Given the description of an element on the screen output the (x, y) to click on. 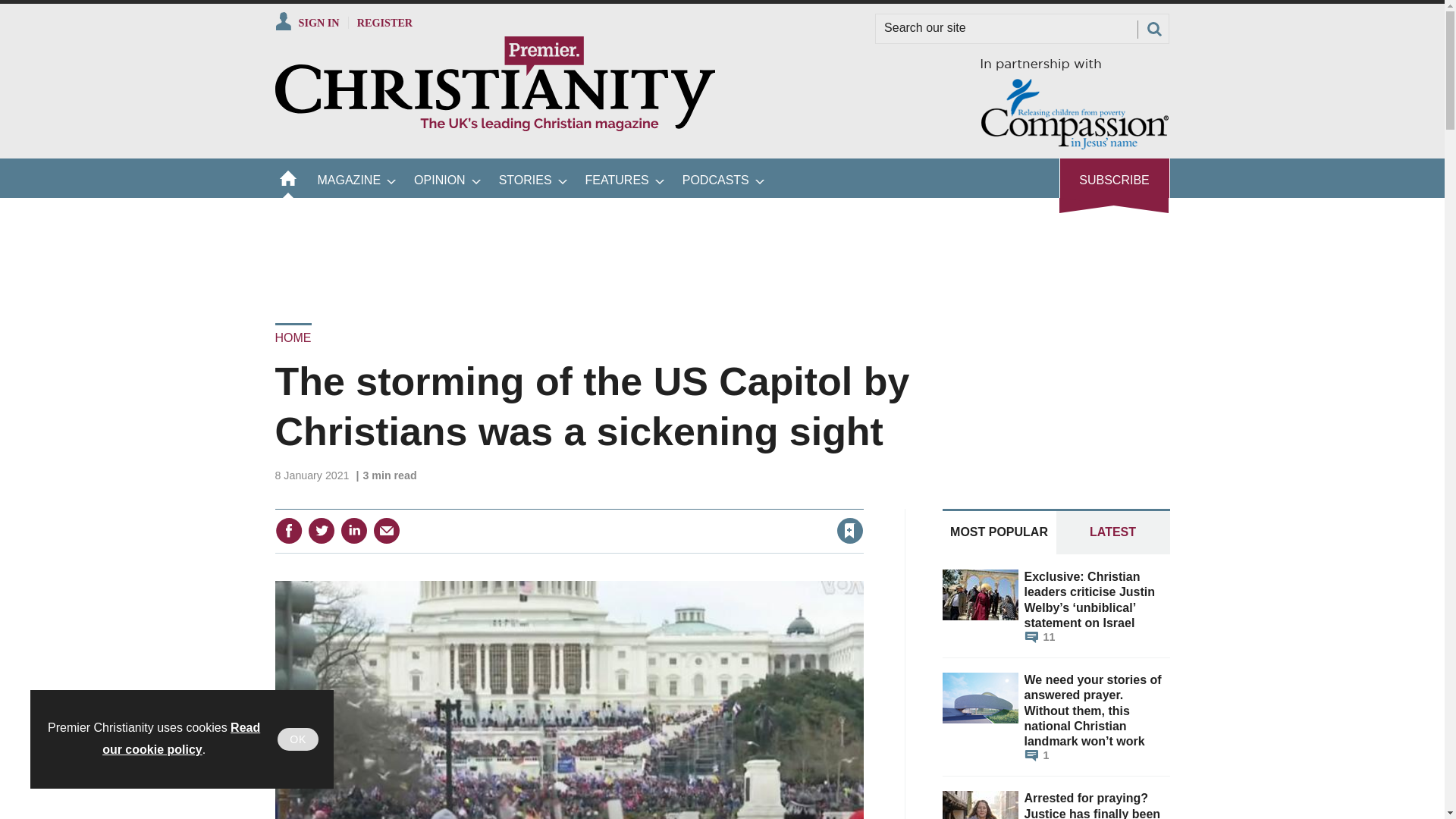
OK (298, 739)
Share this on Facebook (288, 530)
3rd party ad content (721, 250)
Read our cookie policy (180, 738)
Site name (494, 126)
SEARCH (1153, 28)
Share this on Linked in (352, 530)
Email this article (386, 530)
Share this on Twitter (320, 530)
SIGN IN (307, 22)
